Given the description of an element on the screen output the (x, y) to click on. 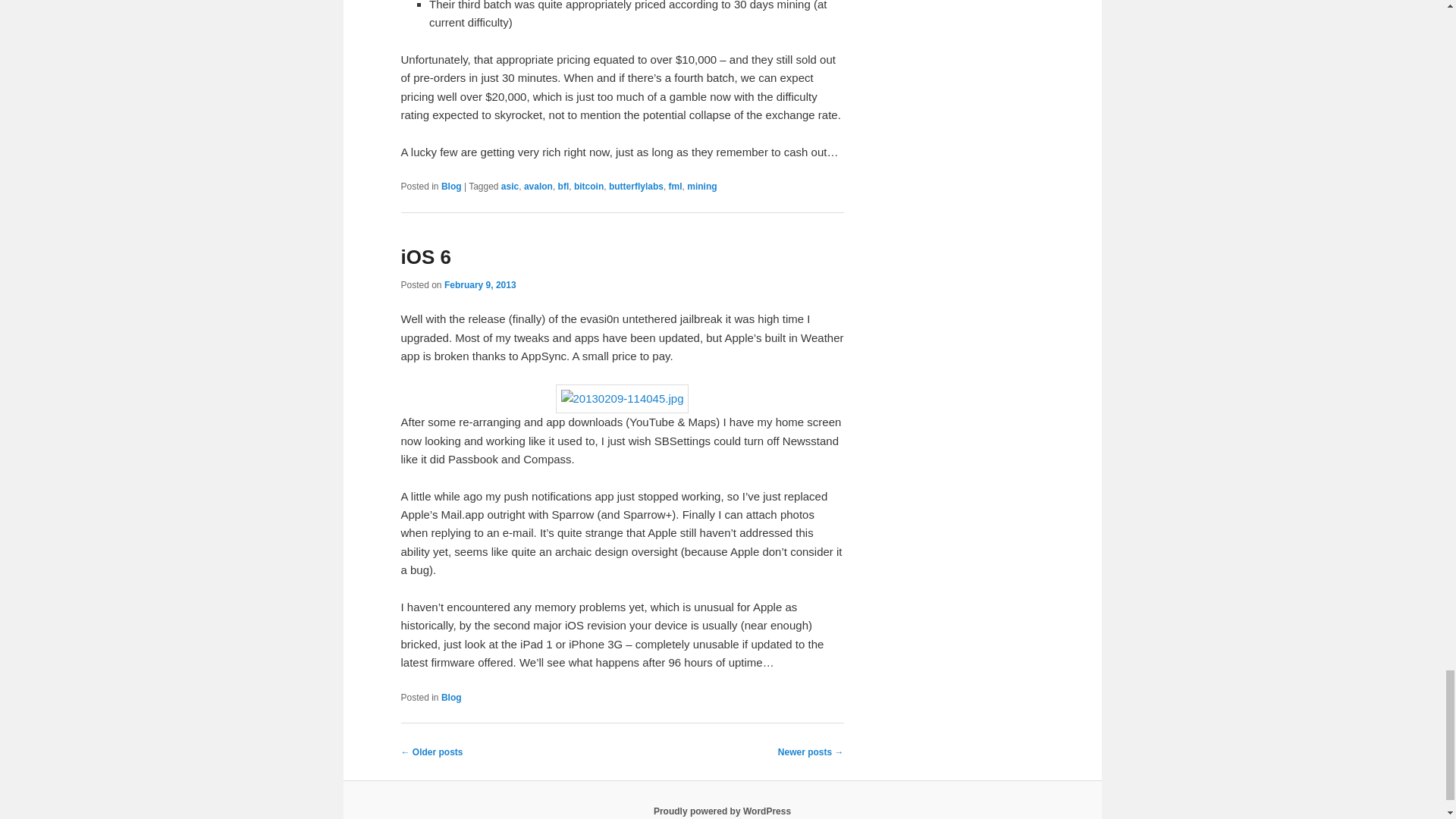
10:51 am (480, 285)
Semantic Personal Publishing Platform (721, 810)
